Given the description of an element on the screen output the (x, y) to click on. 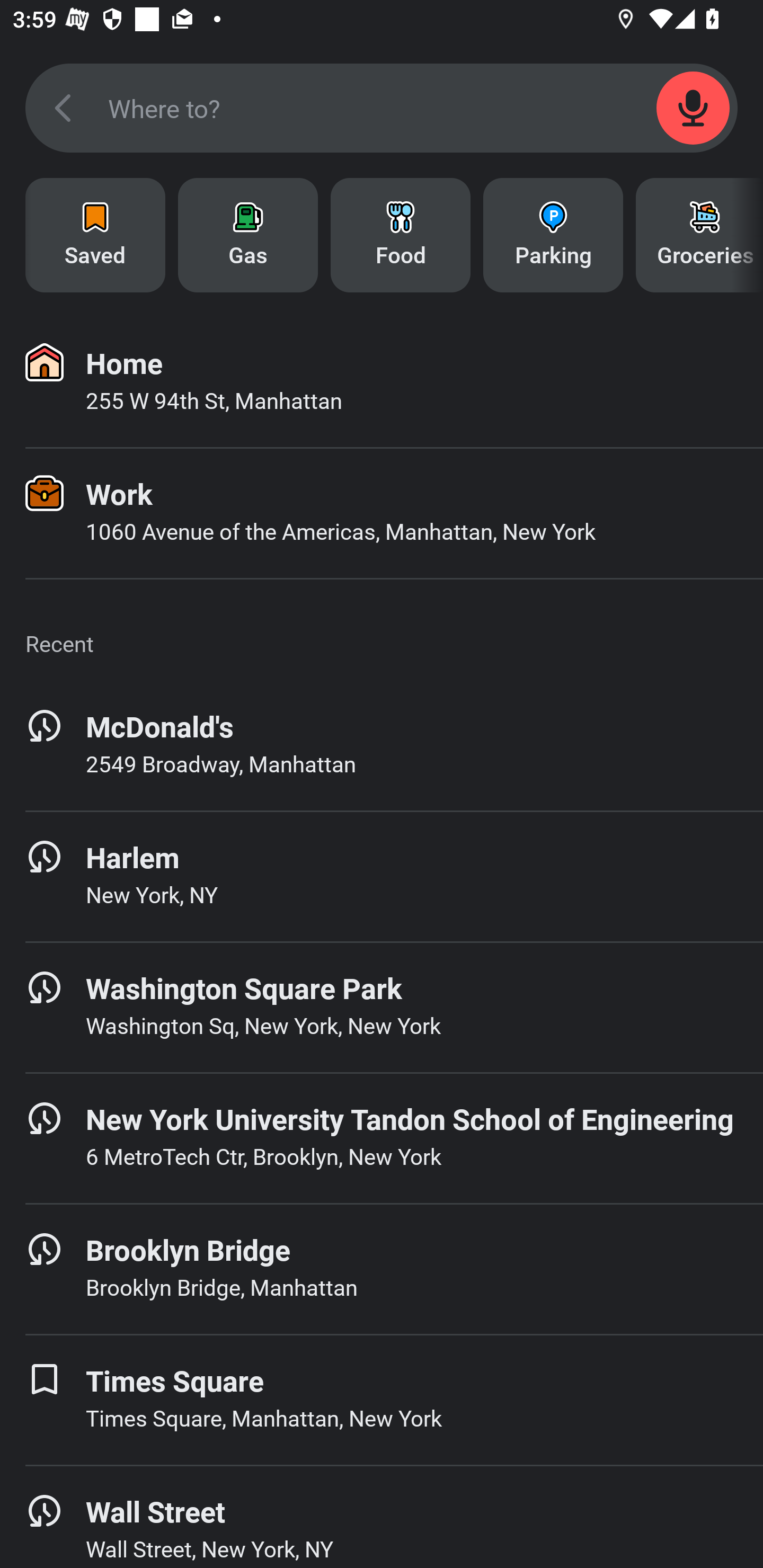
SEARCH_SCREEN_SEARCH_FIELD Where to? (381, 108)
Saved (95, 234)
Gas (247, 234)
Food (400, 234)
Parking (552, 234)
Groceries (699, 234)
Home 255 W 94th St, Manhattan (381, 382)
McDonald's 2549 Broadway, Manhattan (381, 745)
Harlem New York, NY (381, 876)
Brooklyn Bridge Brooklyn Bridge, Manhattan (381, 1269)
Times Square Times Square, Manhattan, New York (381, 1399)
Wall Street Wall Street, New York, NY (381, 1517)
